Given the description of an element on the screen output the (x, y) to click on. 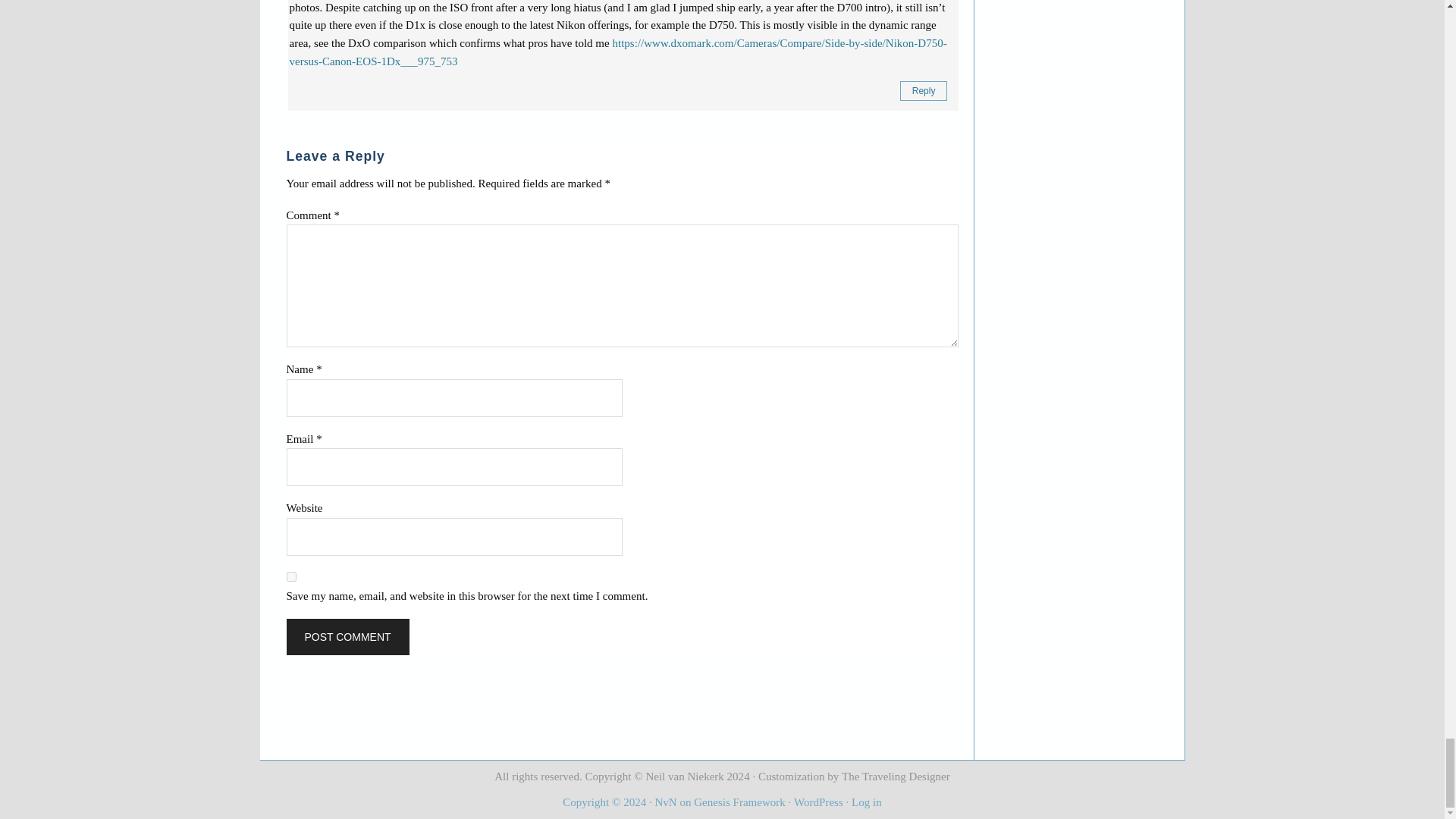
yes (291, 576)
Post Comment (347, 637)
